Given the description of an element on the screen output the (x, y) to click on. 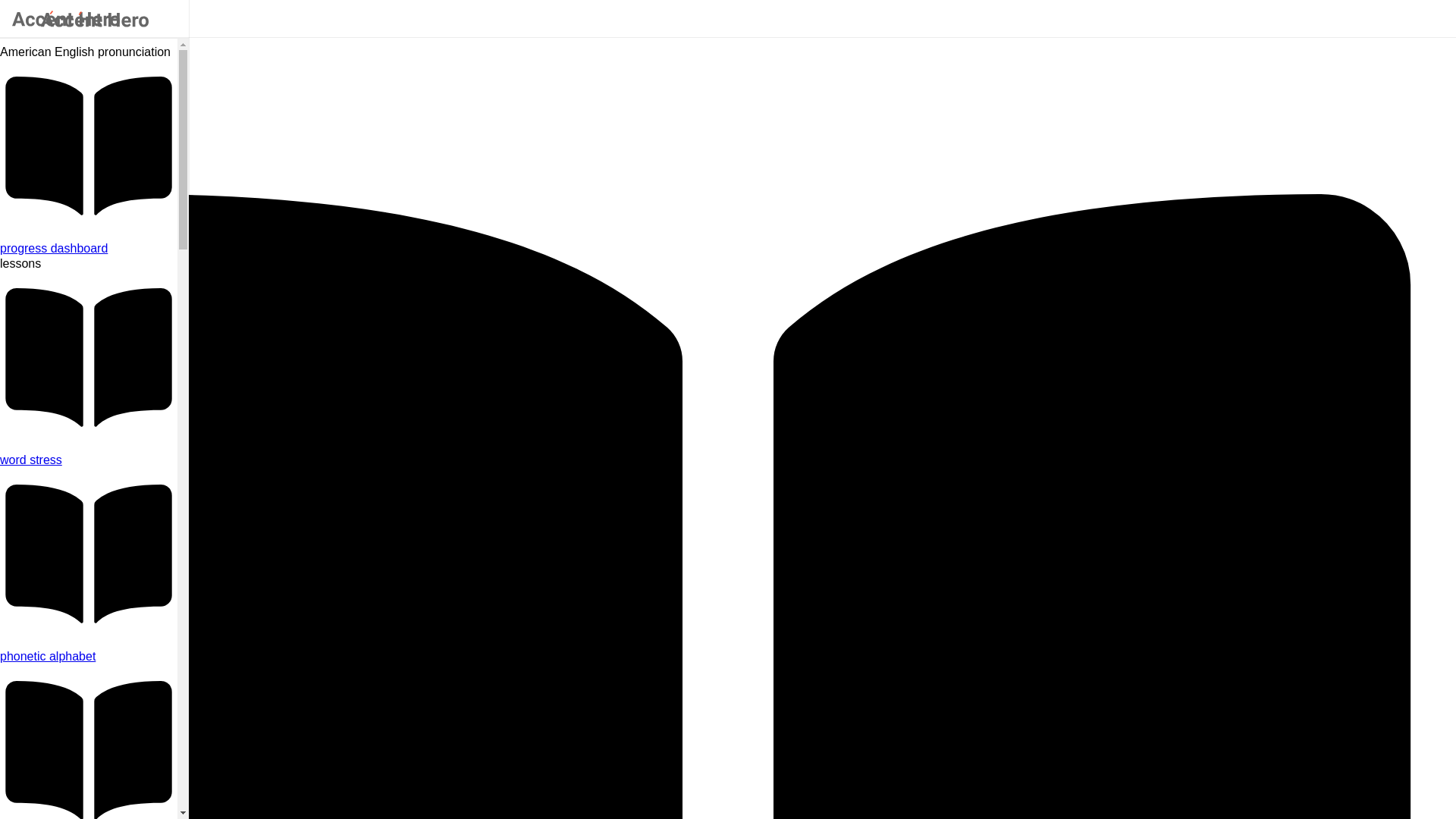
Learn how word stress influences your accent (88, 459)
Learn to precisely articulate each sound (88, 656)
